Given the description of an element on the screen output the (x, y) to click on. 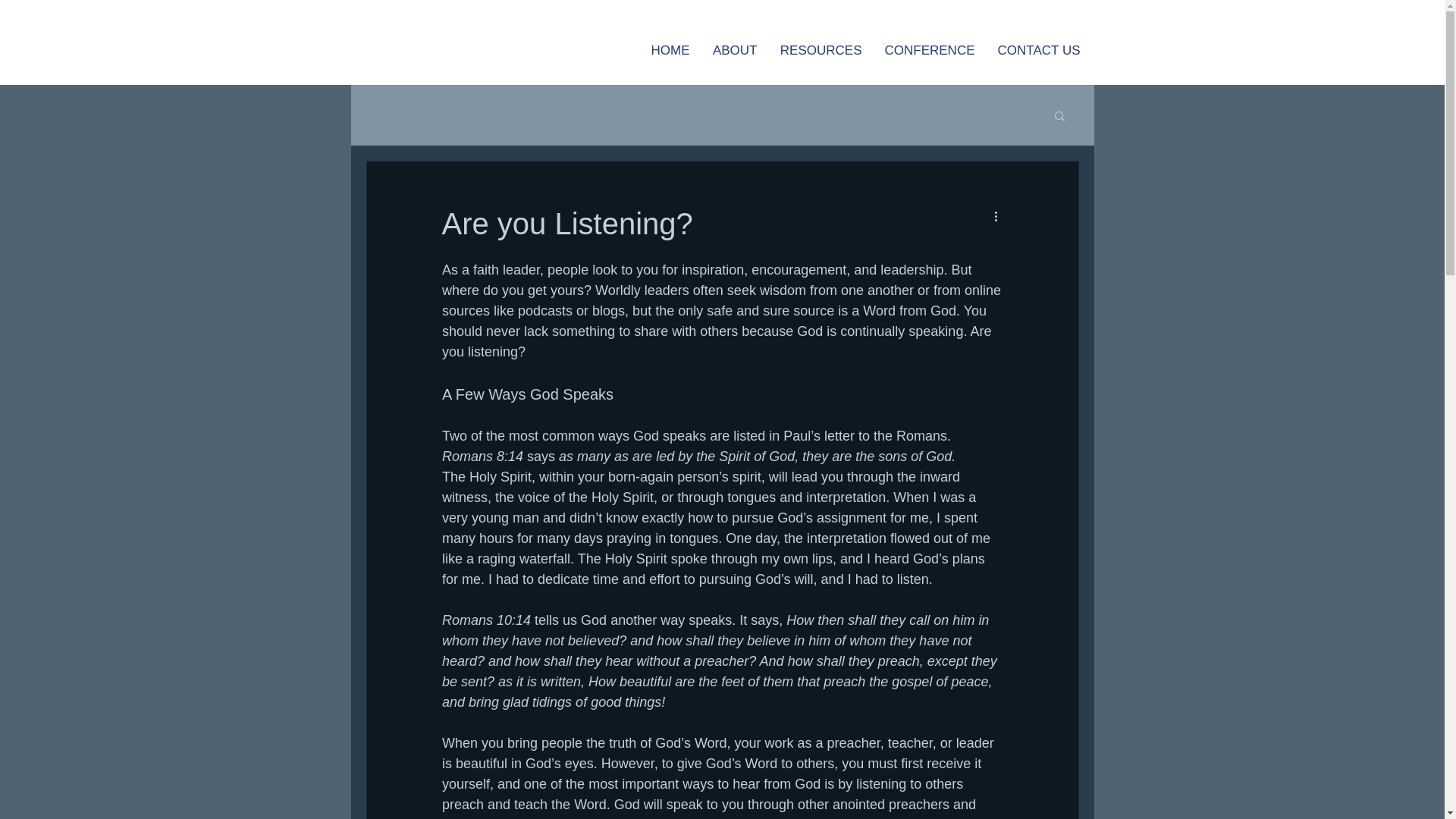
HOME (670, 48)
RESOURCES (820, 48)
CONFERENCE (930, 48)
CONTACT US (1037, 48)
ABOUT (734, 48)
